Given the description of an element on the screen output the (x, y) to click on. 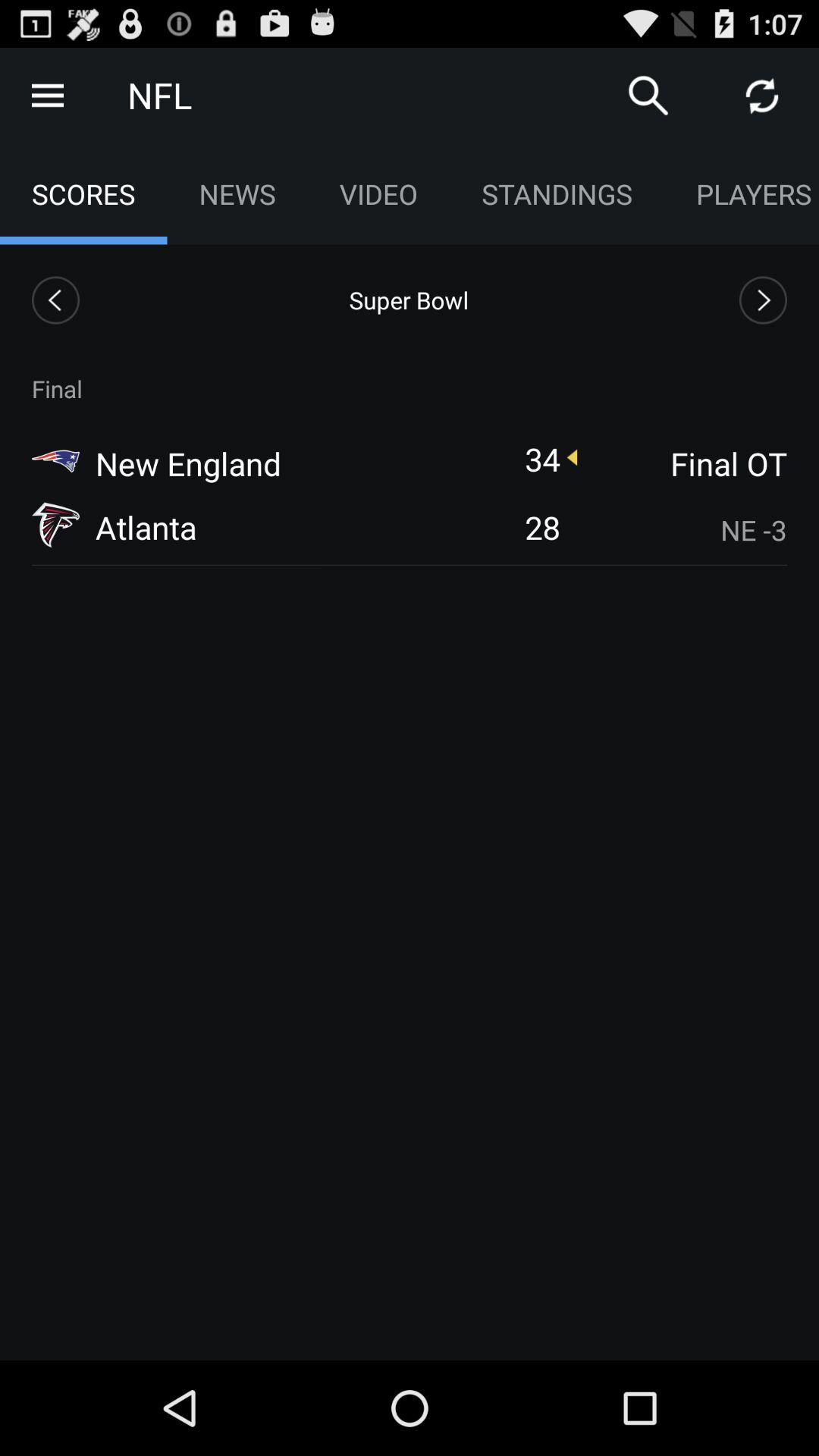
open menu (47, 95)
